Given the description of an element on the screen output the (x, y) to click on. 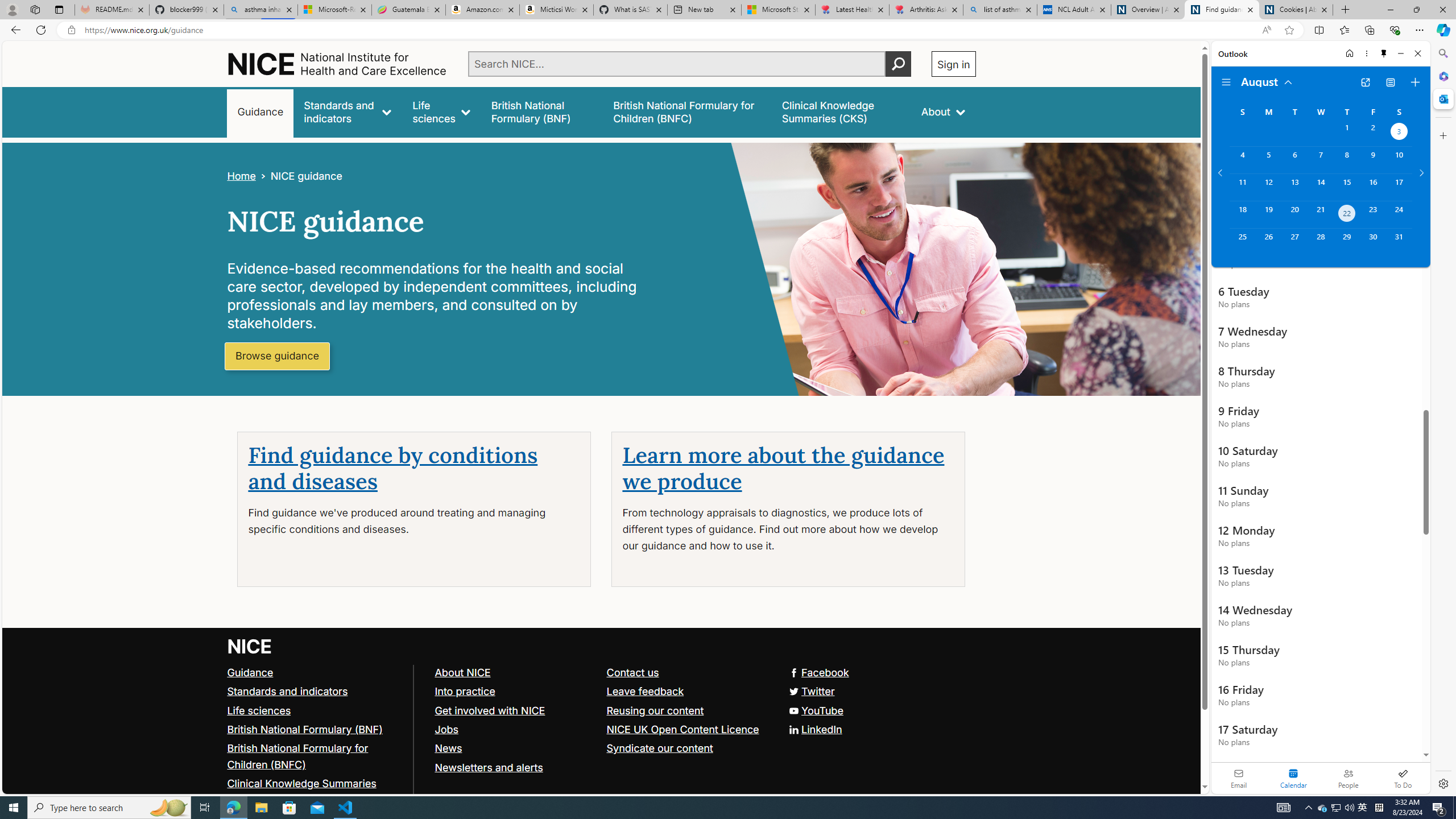
Reusing our content (654, 710)
NICE UK Open Content Licence (681, 729)
Life sciences (440, 111)
Friday, August 16, 2024.  (1372, 186)
British National Formulary for Children (BNFC) (297, 756)
Sign in (952, 63)
Friday, August 23, 2024.  (1372, 214)
Thursday, August 22, 2024. Today.  (1346, 214)
Twitter (810, 690)
